Given the description of an element on the screen output the (x, y) to click on. 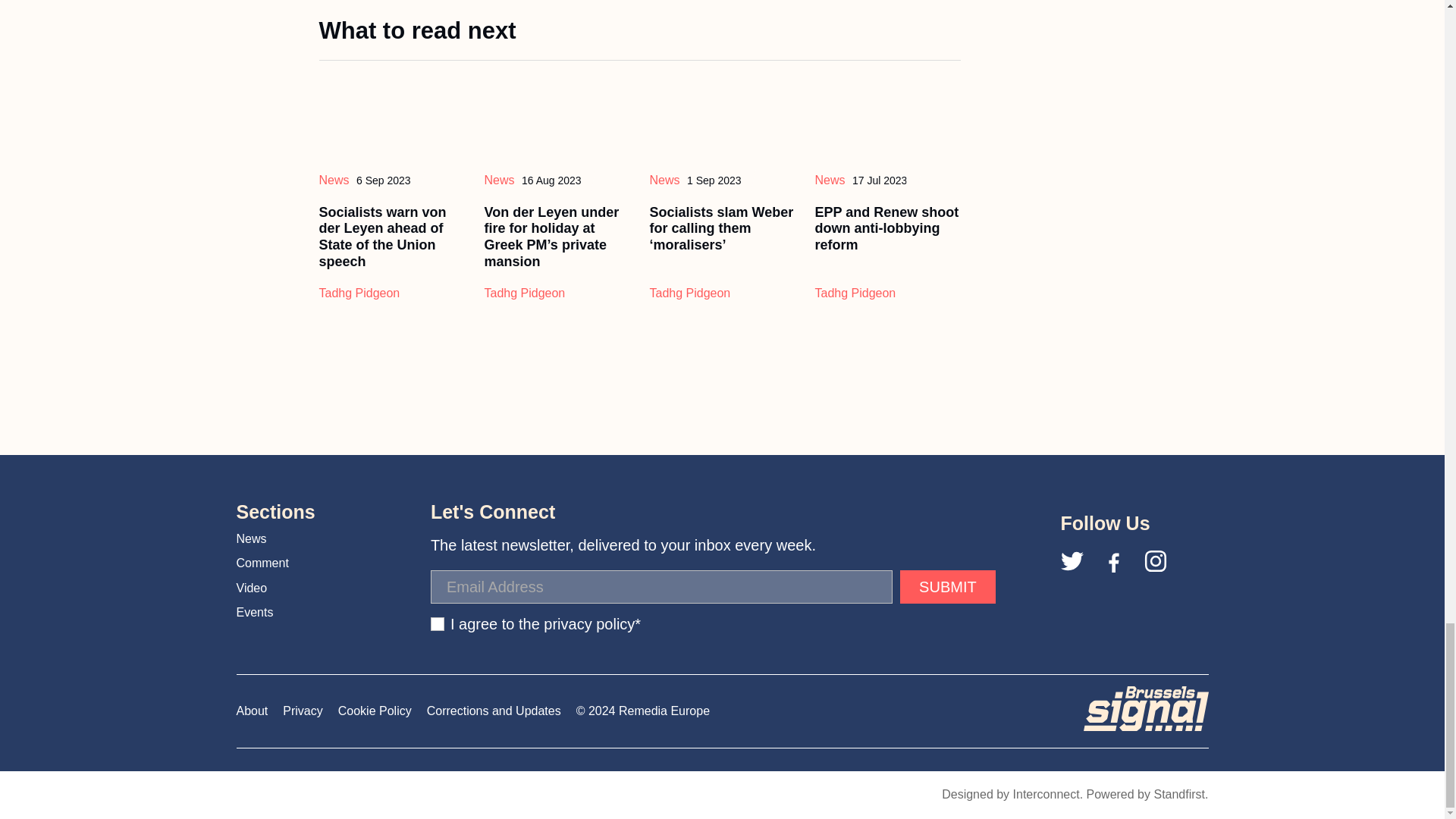
News (498, 179)
News (333, 179)
I agree to the privacy policy (437, 623)
Tadhg Pidgeon (523, 292)
Tadhg Pidgeon (358, 292)
